Given the description of an element on the screen output the (x, y) to click on. 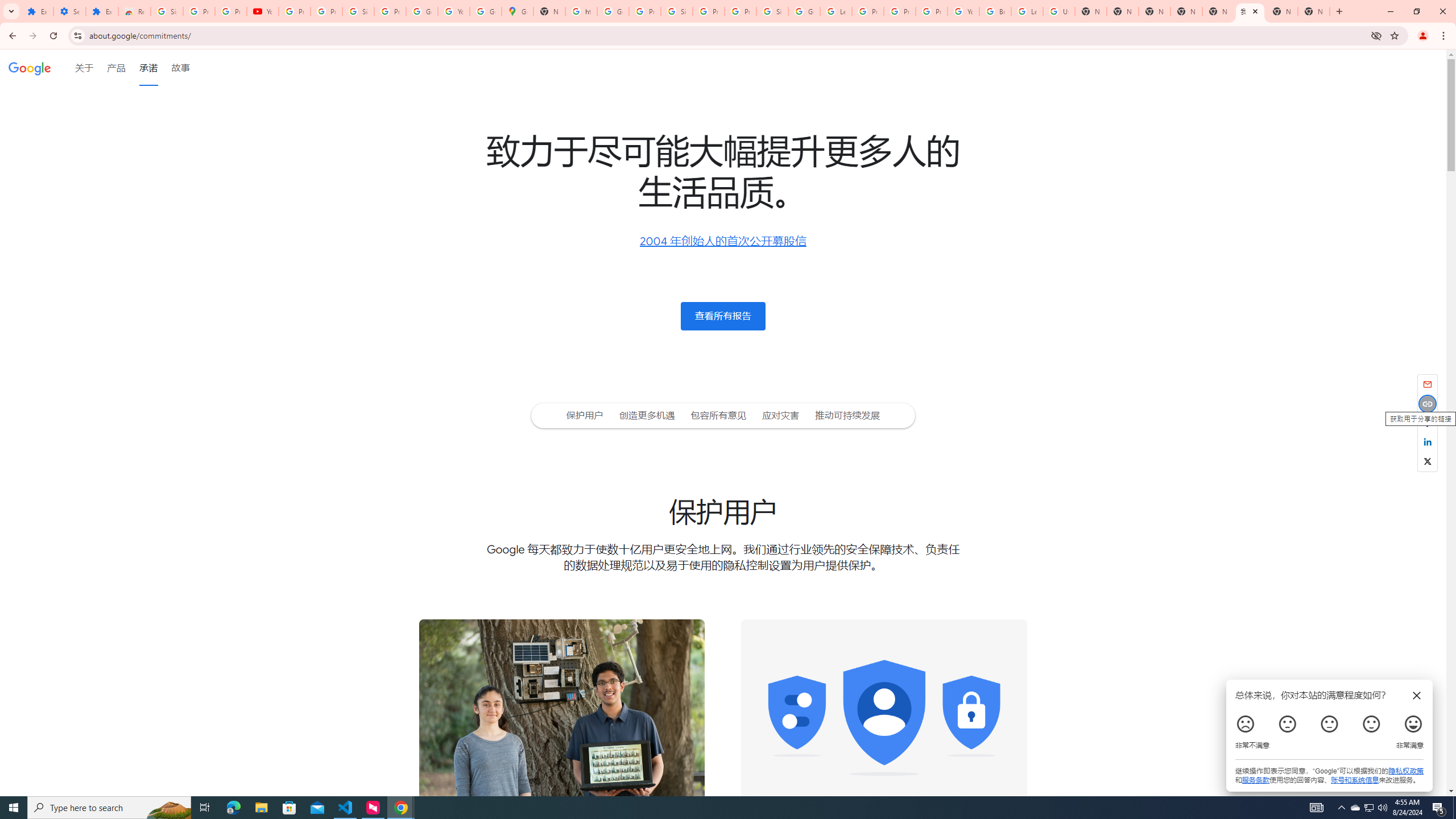
Reviews: Helix Fruit Jump Arcade Game (134, 11)
Extensions (37, 11)
